Given the description of an element on the screen output the (x, y) to click on. 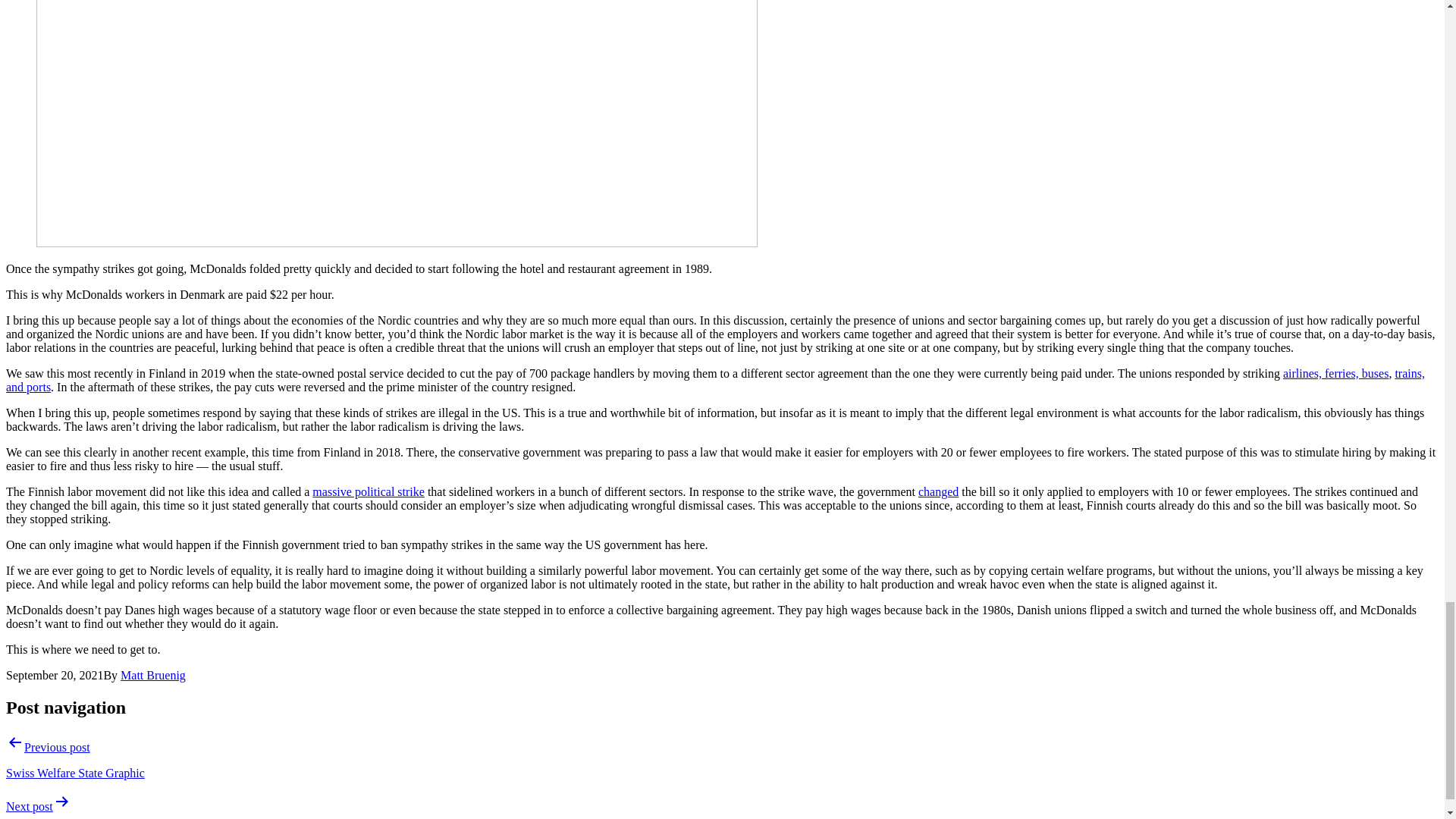
changed (938, 491)
massive political strike (369, 491)
trains, and ports (715, 379)
airlines, ferries, buses (1335, 373)
Matt Bruenig (153, 675)
